Given the description of an element on the screen output the (x, y) to click on. 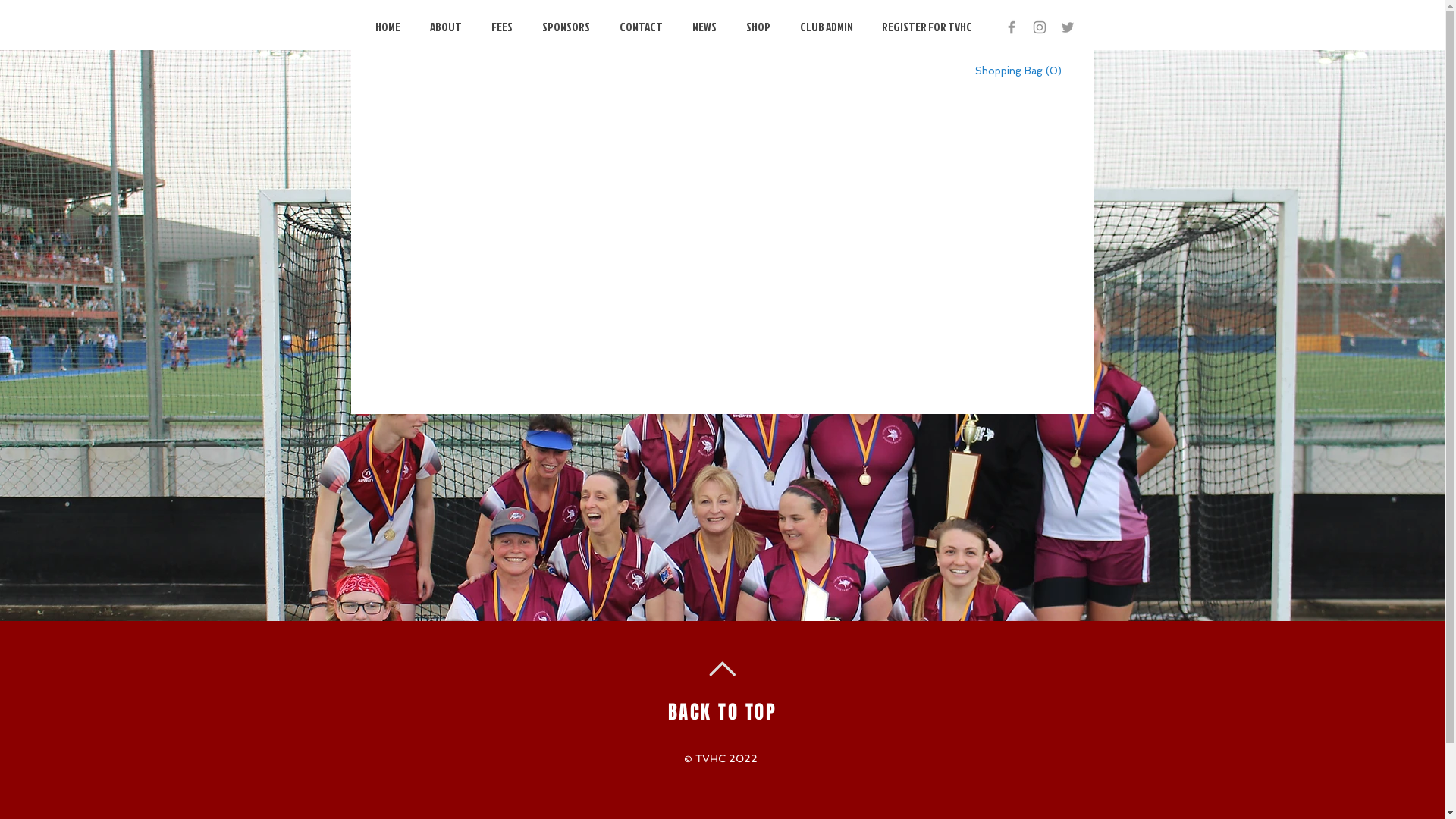
HOME Element type: text (390, 26)
REGISTER FOR TVHC Element type: text (928, 26)
Online Store Element type: hover (721, 232)
SPONSORS Element type: text (567, 26)
ABOUT Element type: text (447, 26)
CLUB ADMIN Element type: text (828, 26)
SHOP Element type: text (760, 26)
FEES Element type: text (504, 26)
BACK TO TOP Element type: text (722, 711)
NEWS Element type: text (706, 26)
CONTACT Element type: text (642, 26)
